Given the description of an element on the screen output the (x, y) to click on. 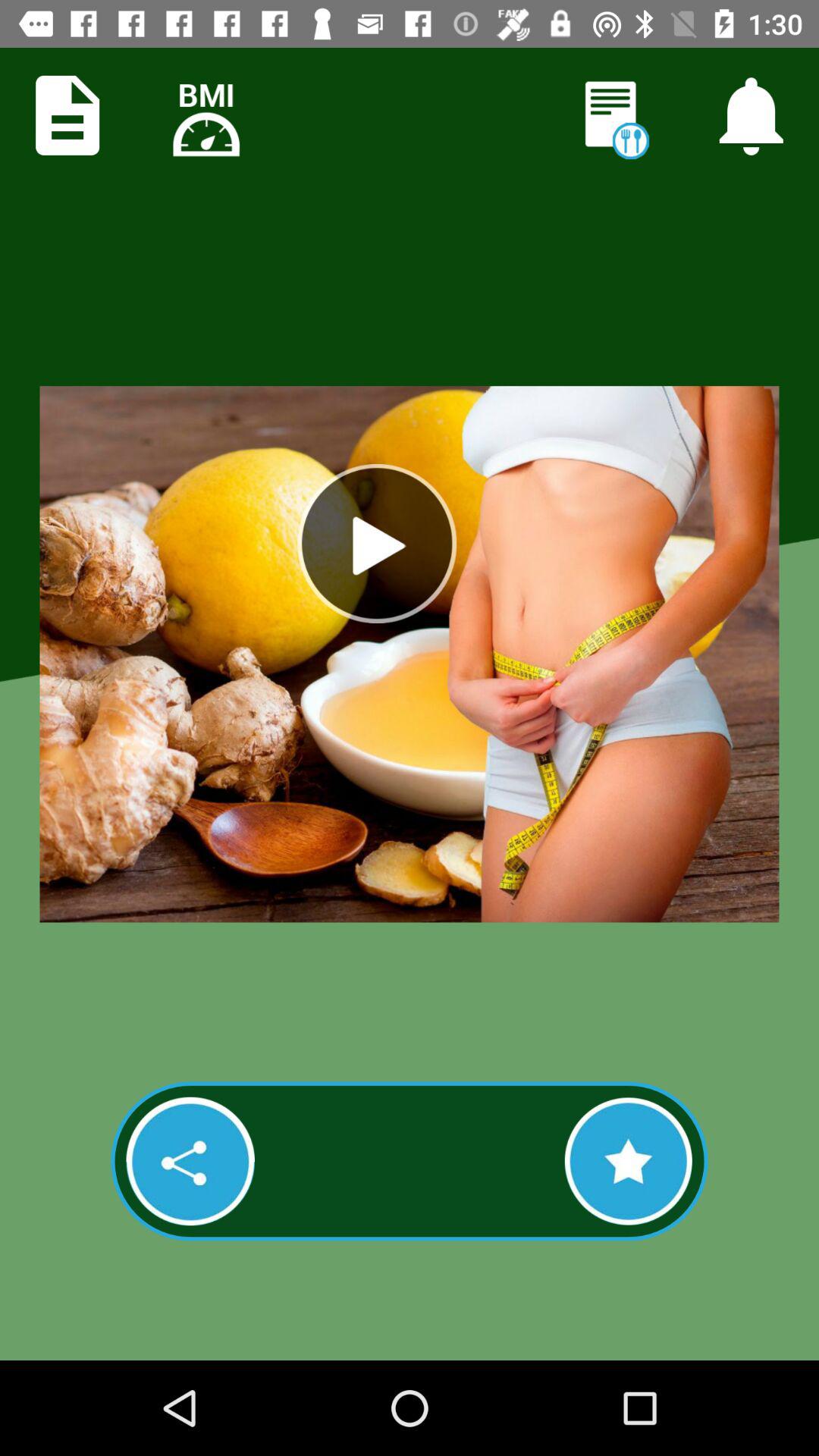
go to menu (67, 115)
